Given the description of an element on the screen output the (x, y) to click on. 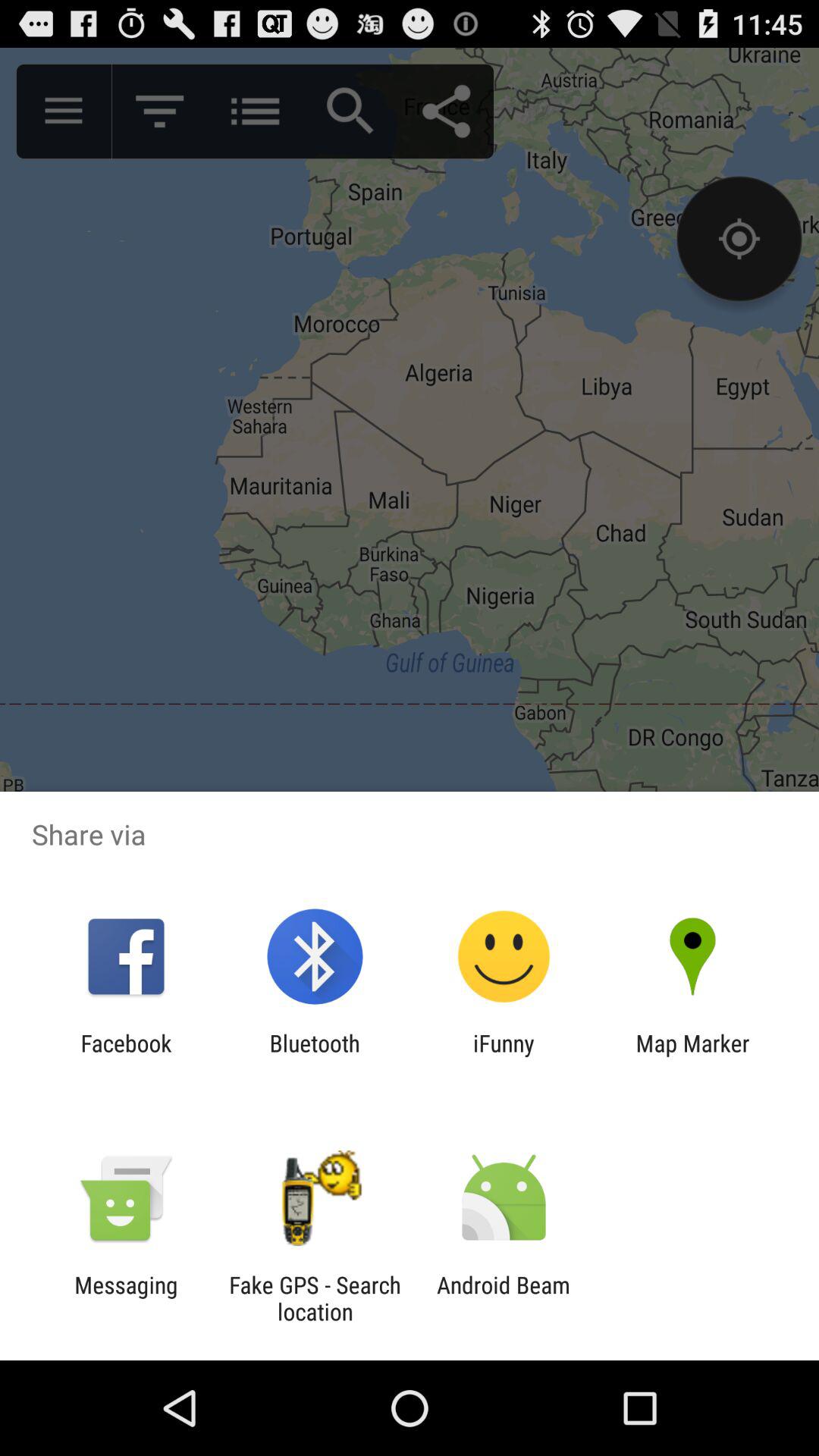
launch map marker at the bottom right corner (692, 1056)
